Given the description of an element on the screen output the (x, y) to click on. 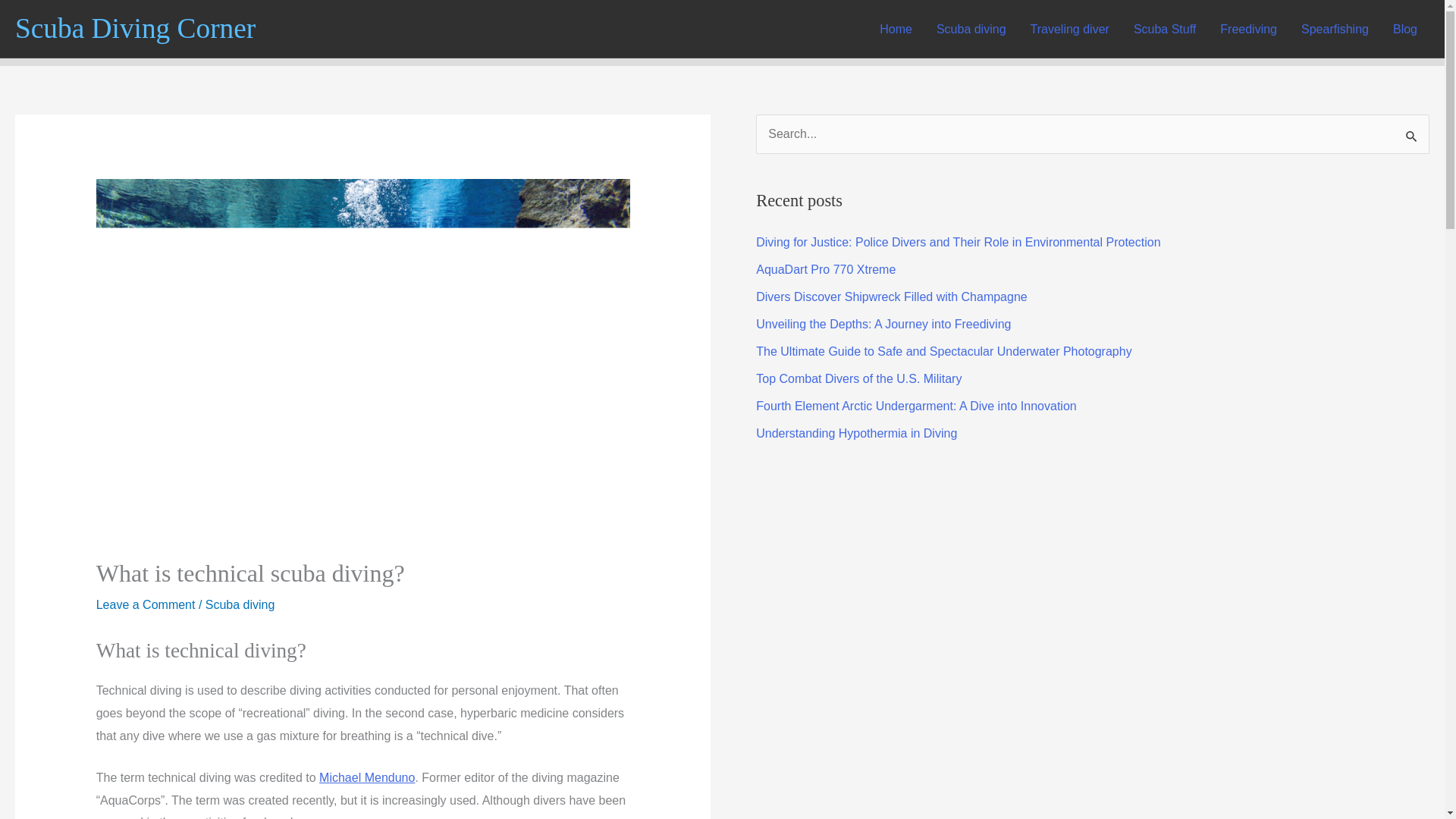
Spearfishing (1334, 28)
Freediving (1248, 28)
Leave a Comment (145, 604)
Home (895, 28)
Michael Menduno (366, 777)
Divers Discover Shipwreck Filled with Champagne (890, 296)
Traveling diver (1069, 28)
Unveiling the Depths: A Journey into Freediving (882, 323)
Scuba Diving Corner (135, 28)
